Given the description of an element on the screen output the (x, y) to click on. 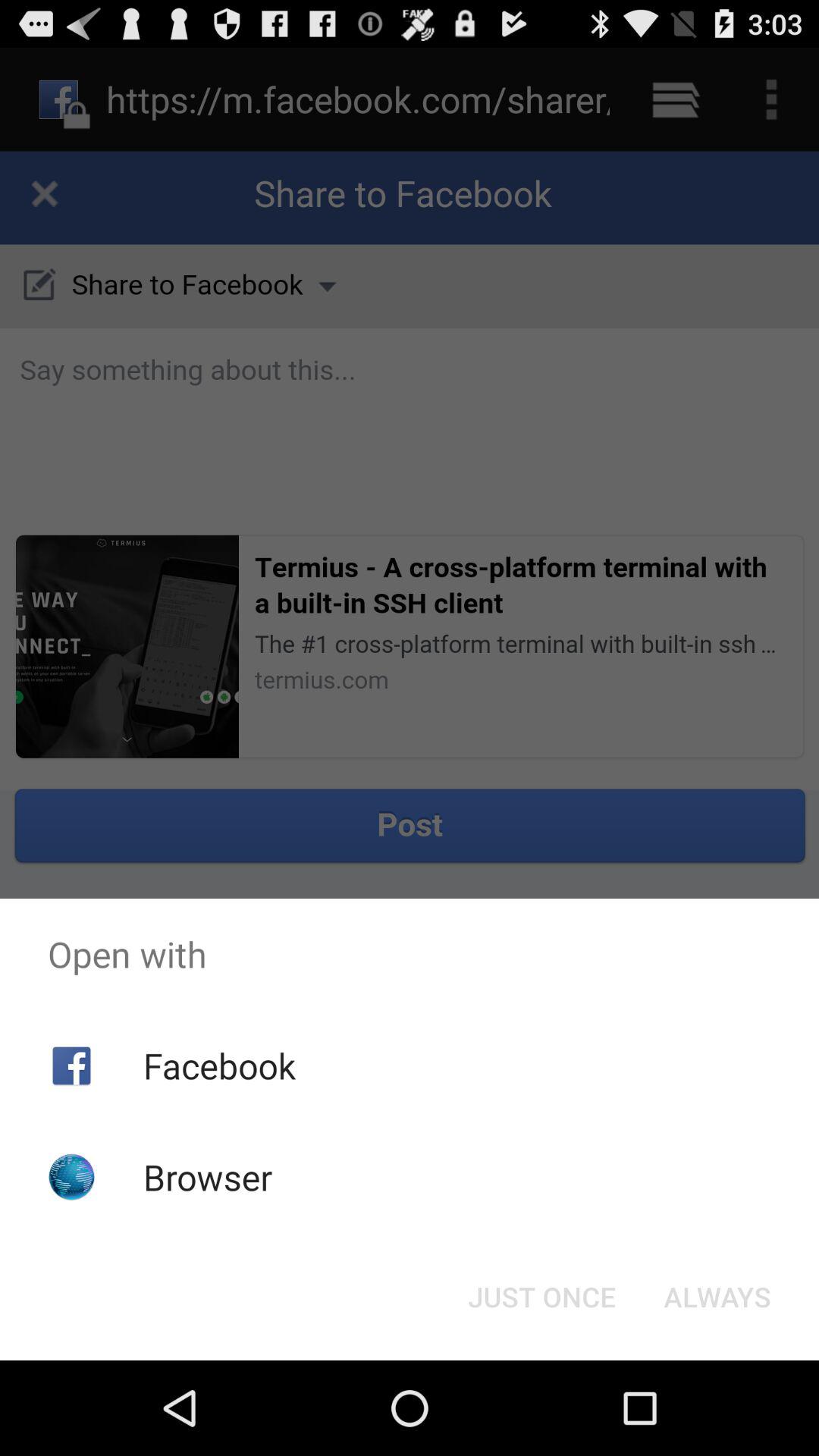
turn on the item to the right of just once button (717, 1296)
